Given the description of an element on the screen output the (x, y) to click on. 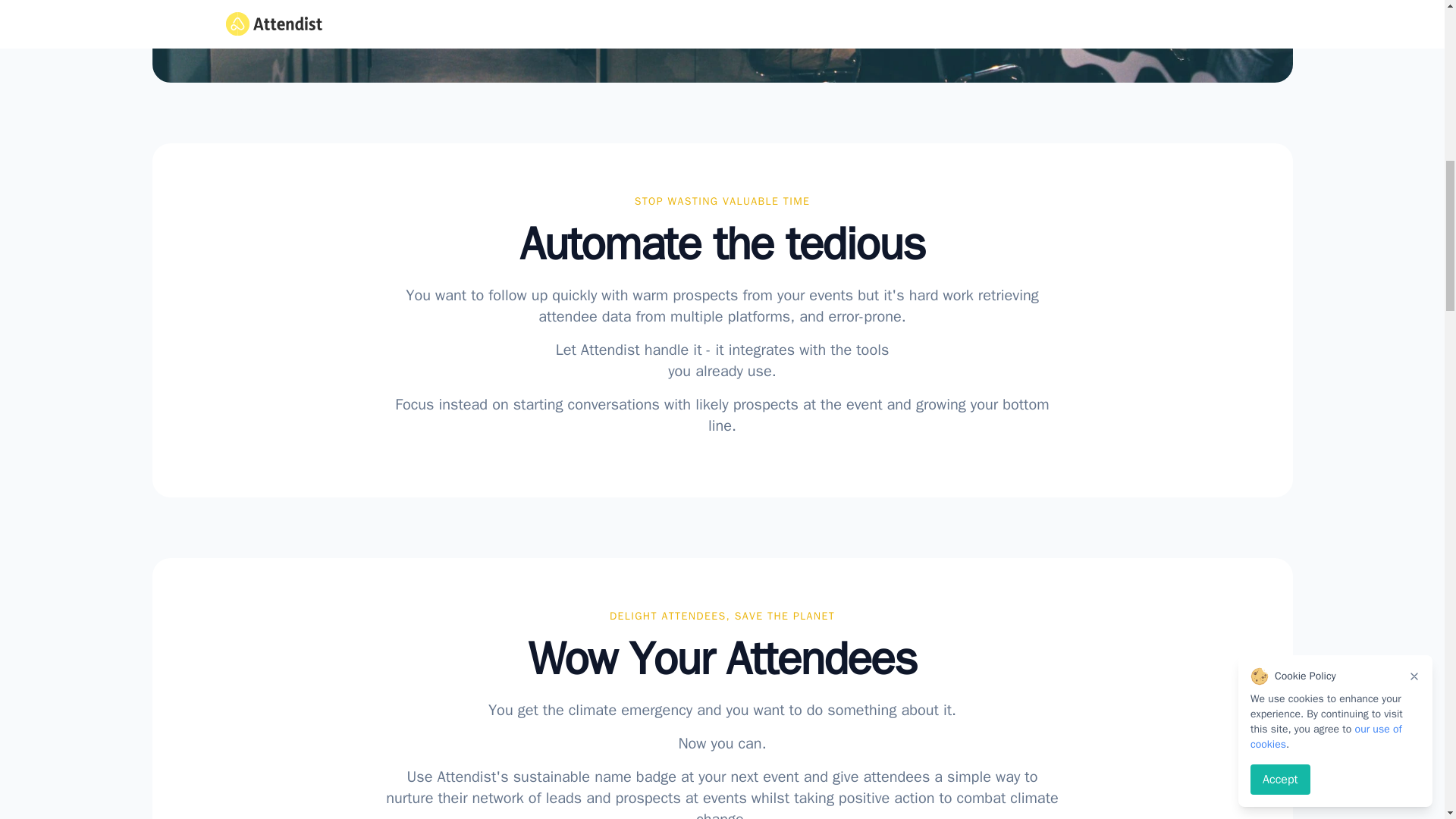
source (253, 26)
